Given the description of an element on the screen output the (x, y) to click on. 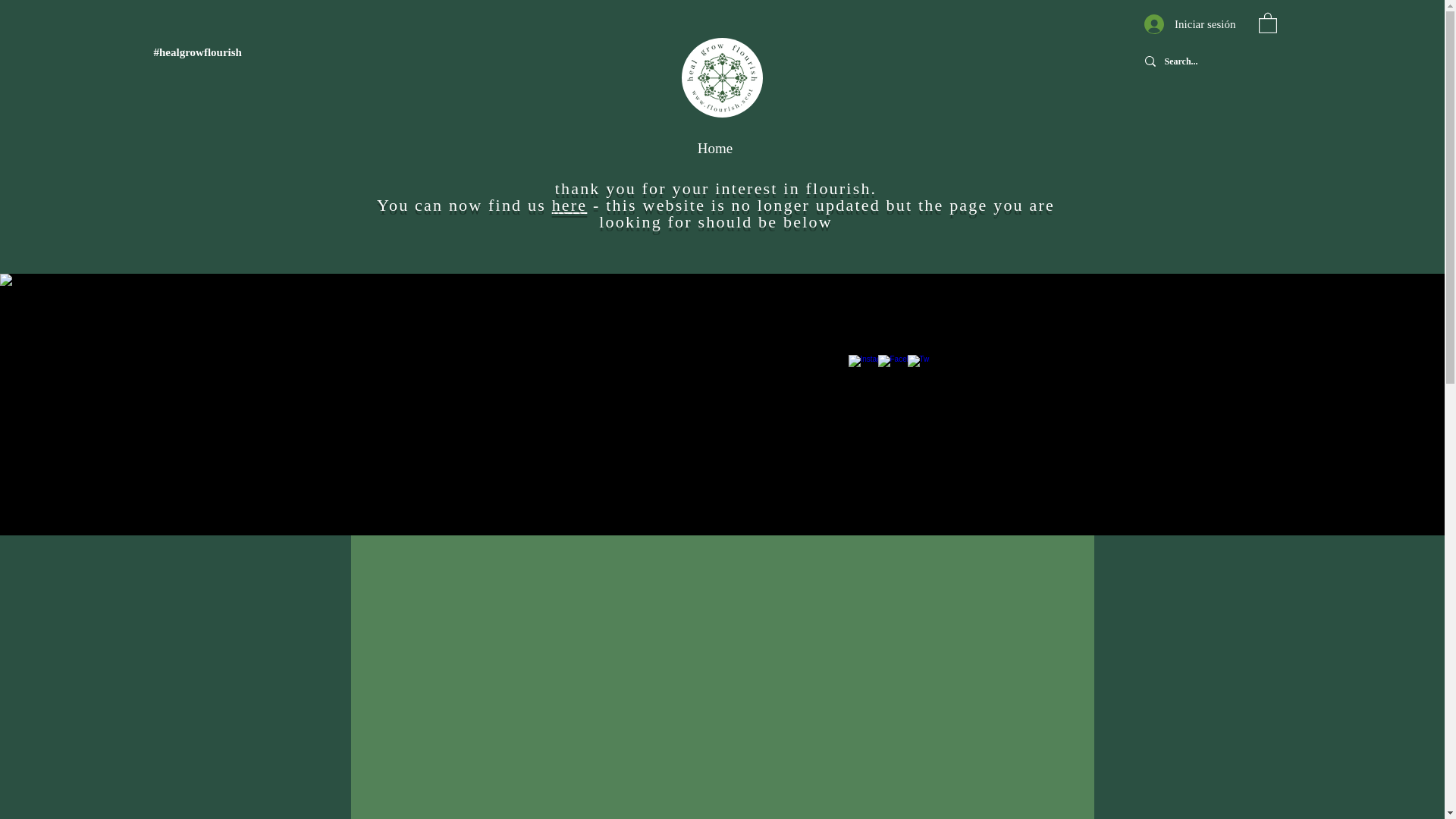
Home (714, 148)
here (569, 204)
